Given the description of an element on the screen output the (x, y) to click on. 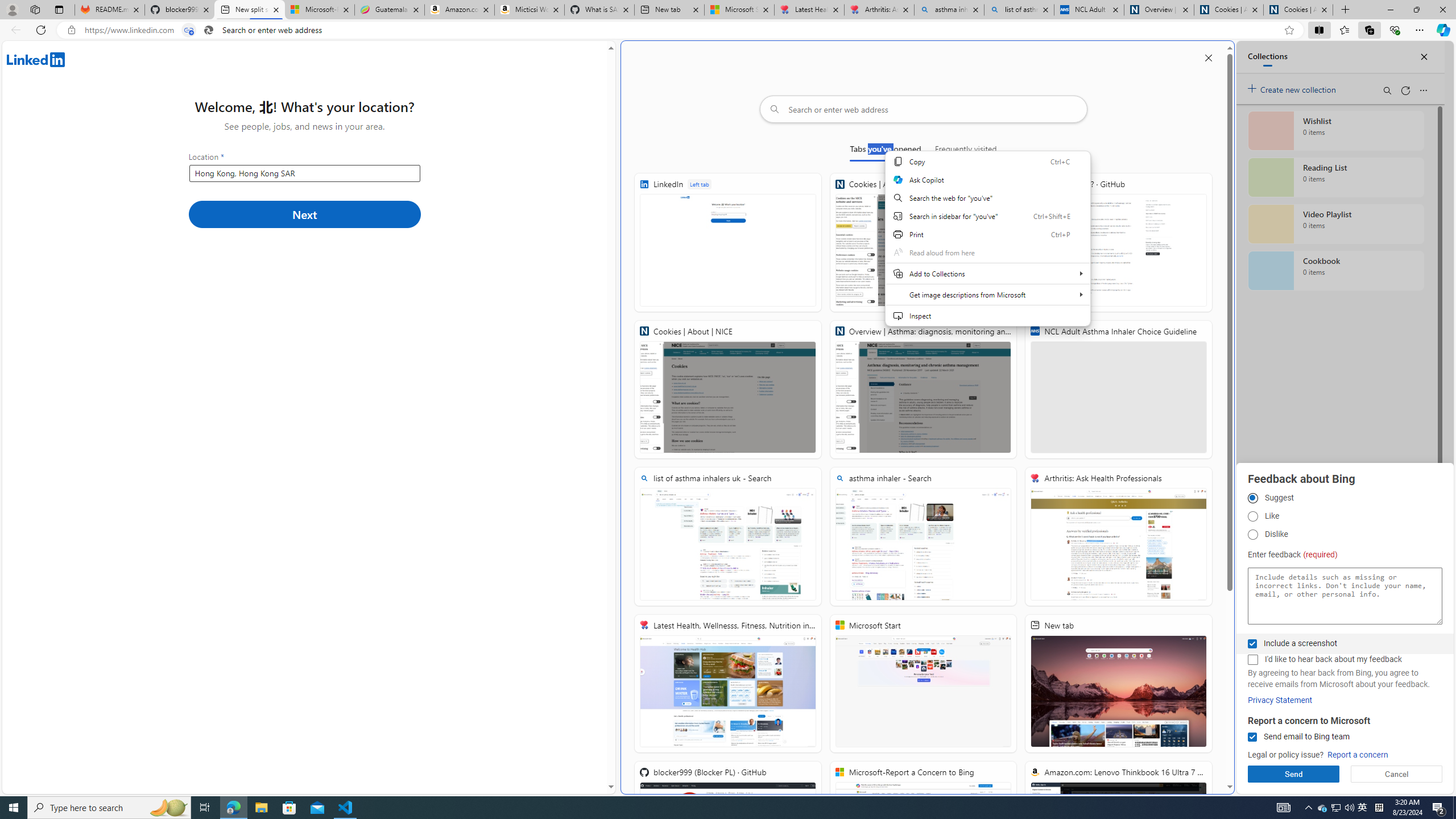
Frequently visited (965, 151)
LinkedIn (727, 242)
Search in sidebar for "you've" (987, 216)
I'd like to hear back about my feedback (1252, 659)
list of asthma inhalers uk - Search (727, 536)
